Given the description of an element on the screen output the (x, y) to click on. 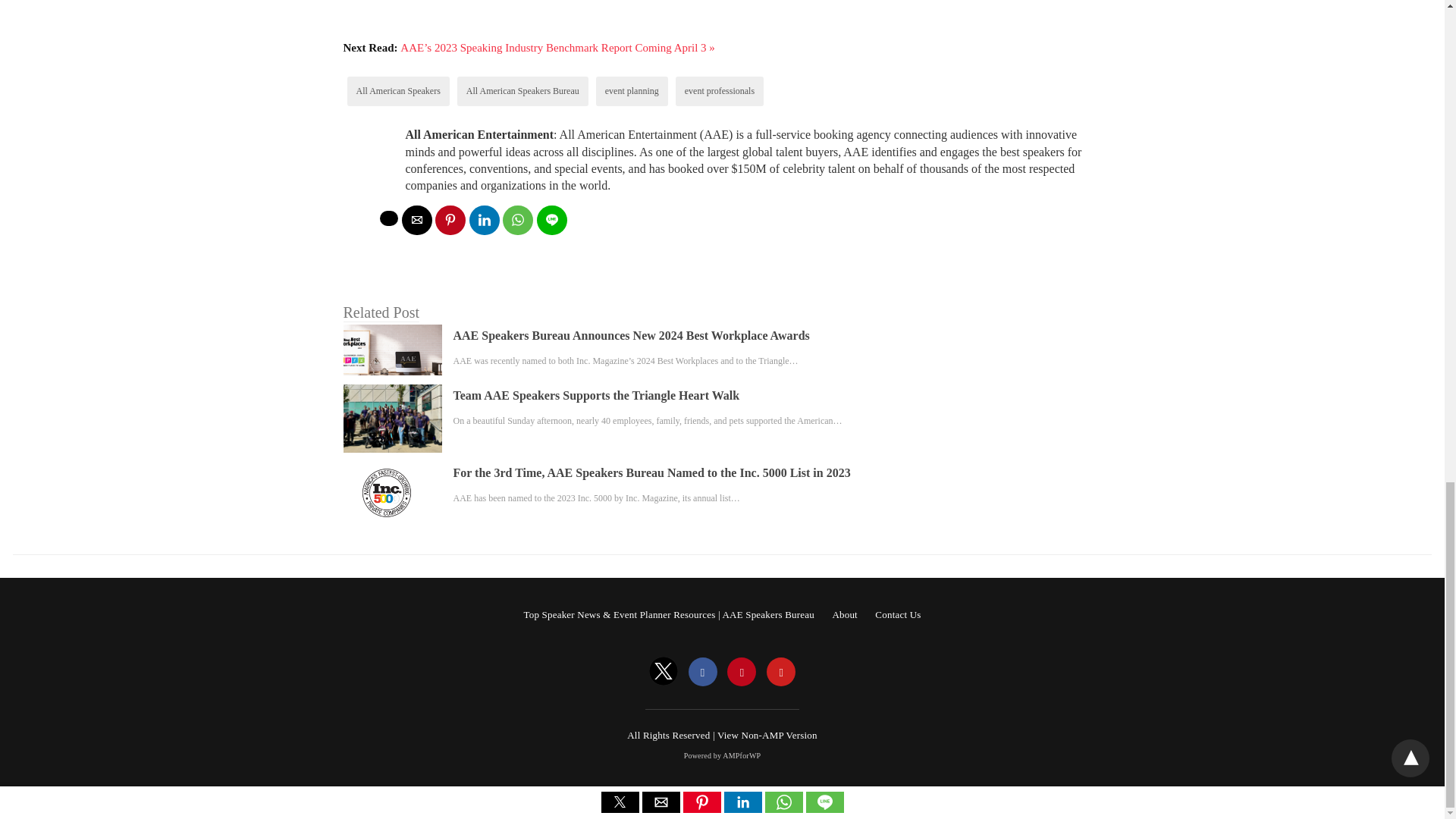
Powered by AMPforWP (722, 755)
twitter share (388, 218)
All American Speakers (398, 90)
twitter profile (663, 672)
line share (552, 220)
youtube profile (780, 672)
whatsapp share (517, 220)
AddThis Website Tools (577, 24)
pinterest share (450, 220)
